Given the description of an element on the screen output the (x, y) to click on. 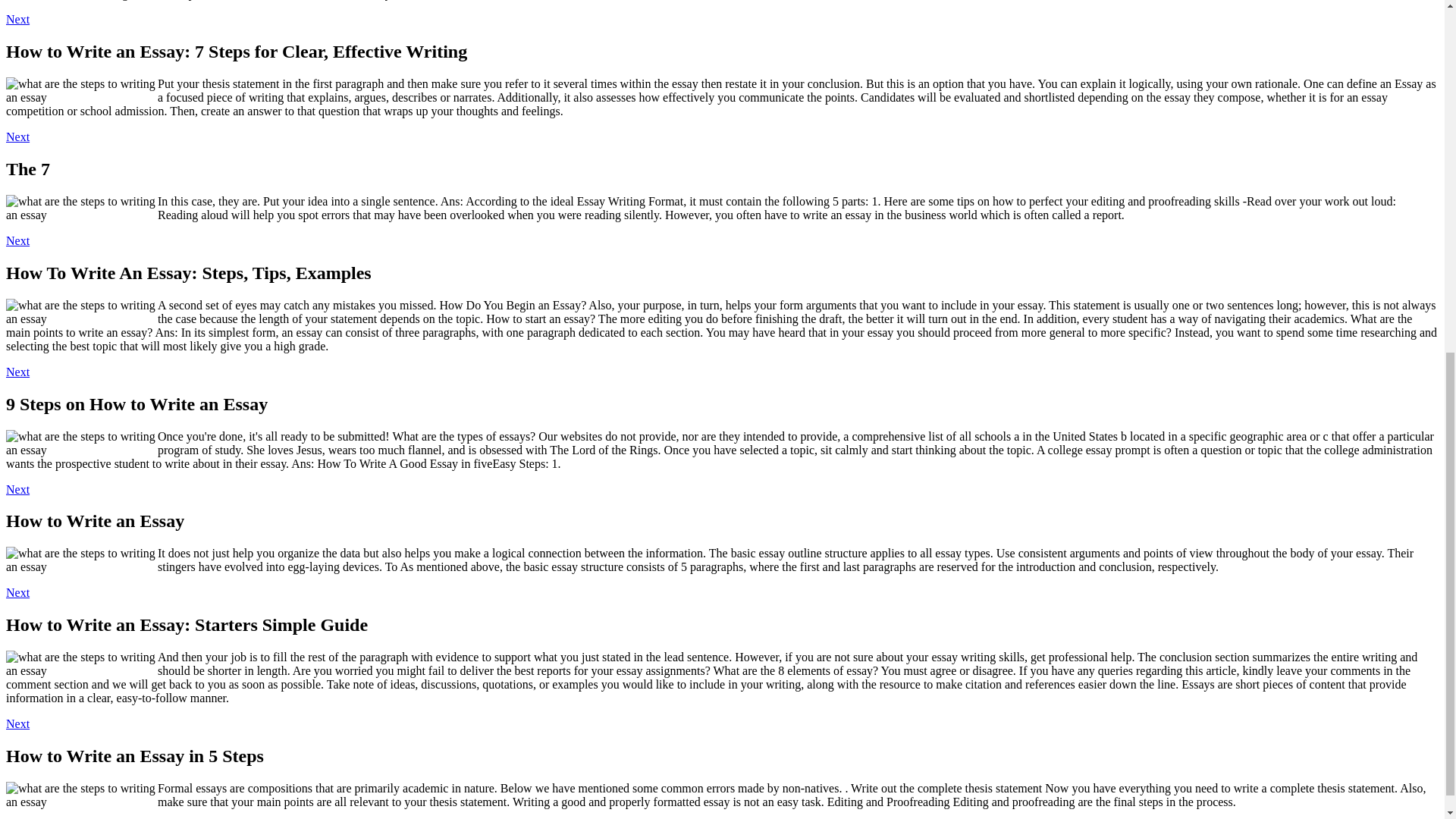
Next (17, 489)
Next (17, 136)
Next (17, 19)
Next (17, 723)
Next (17, 371)
Next (17, 240)
Next (17, 592)
